Given the description of an element on the screen output the (x, y) to click on. 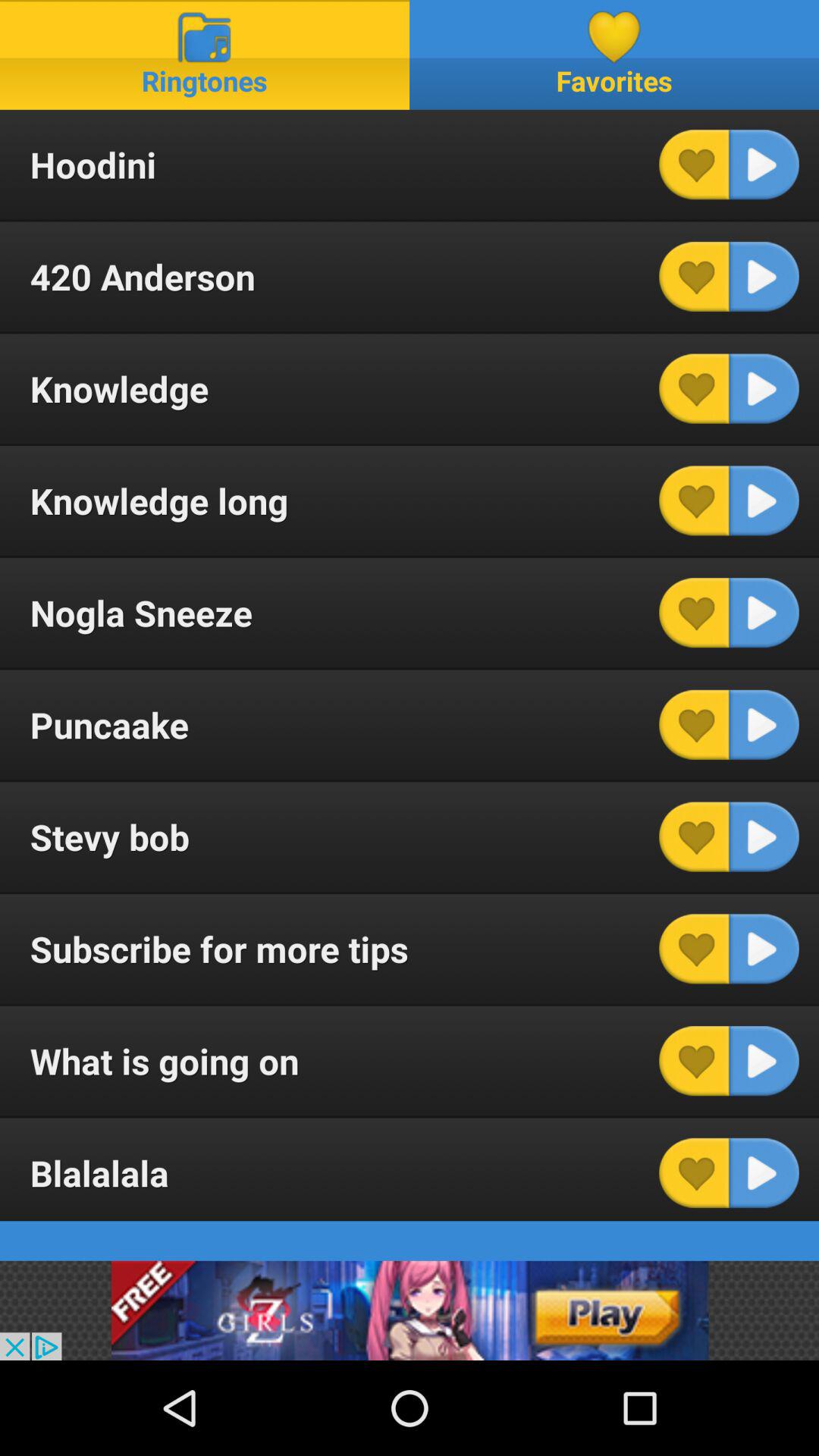
click on like (694, 1173)
